Given the description of an element on the screen output the (x, y) to click on. 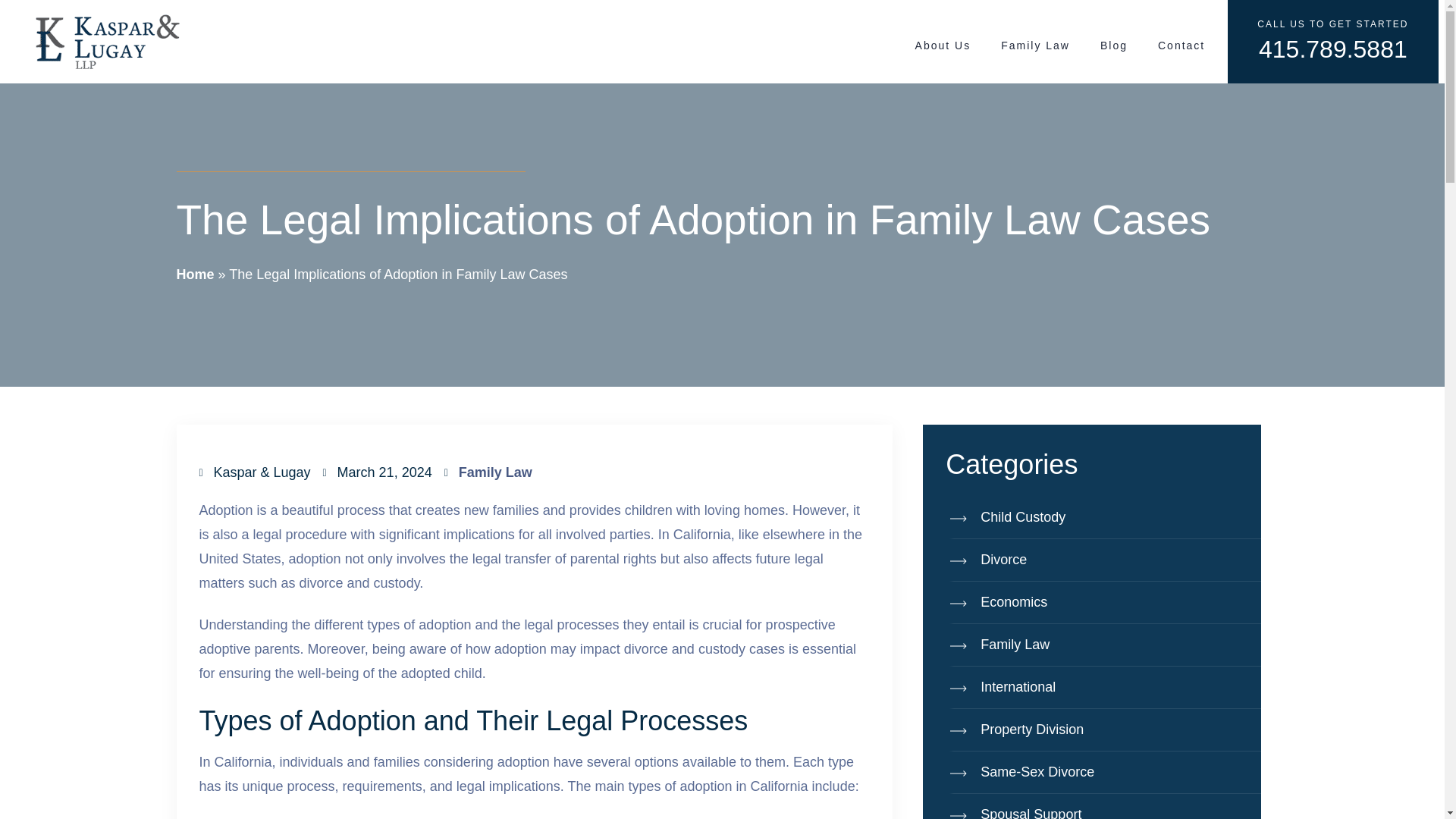
Family Law (1104, 645)
Contact (1181, 45)
Family Law (1034, 45)
International (1104, 687)
Divorce (1104, 559)
Child Custody (1104, 517)
Family Law (495, 472)
About Us (943, 45)
Property Division (1104, 730)
Home (195, 273)
Same-Sex Divorce (1104, 772)
415.789.5881 (1333, 48)
Economics (1104, 602)
